Given the description of an element on the screen output the (x, y) to click on. 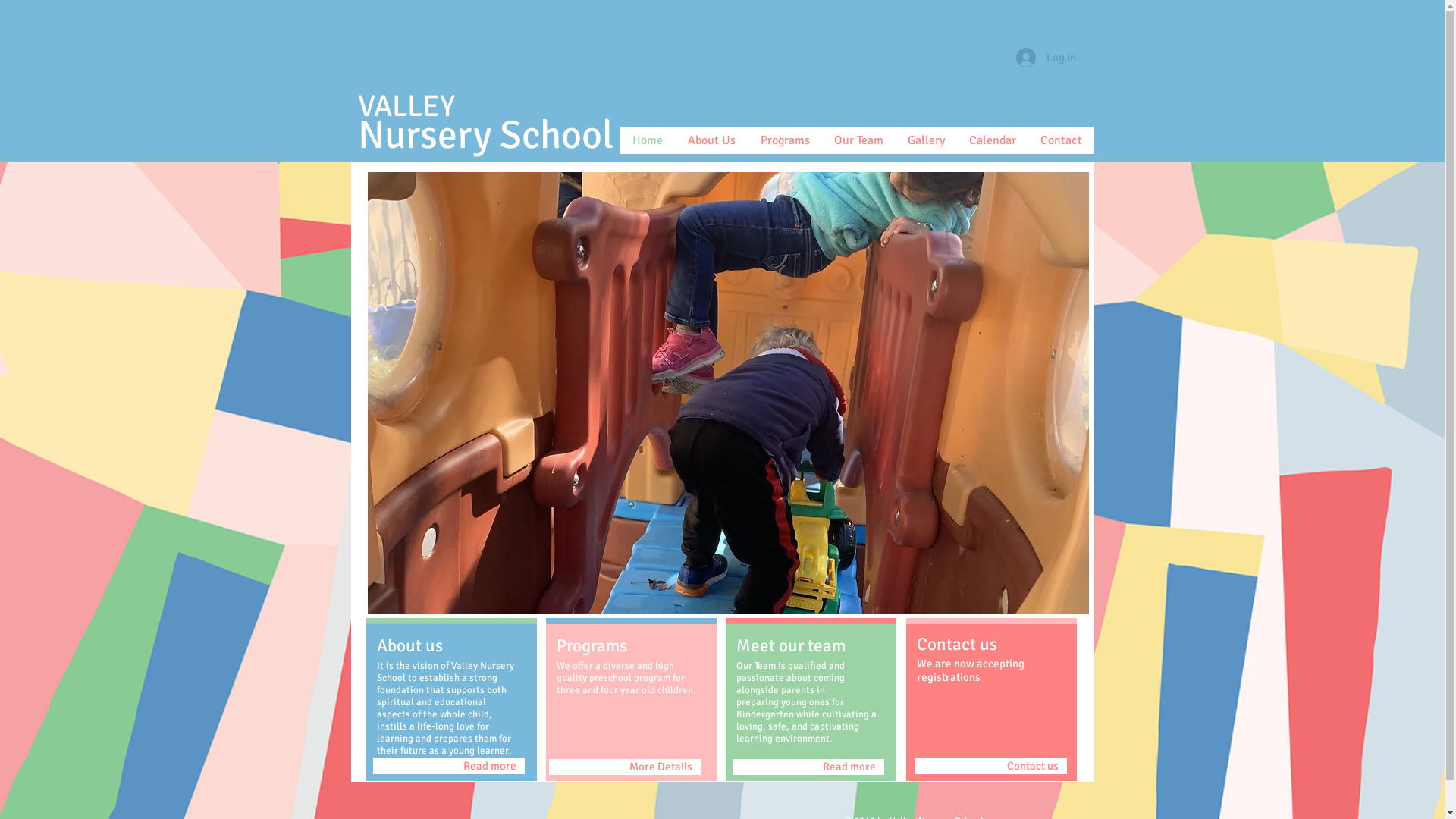
Our Team Element type: text (858, 140)
Home Element type: text (647, 140)
Nursery School Element type: text (485, 134)
Contact Element type: text (1061, 140)
Read more Element type: text (448, 766)
More Details Element type: text (624, 767)
About Us Element type: text (710, 140)
Contact us Element type: text (990, 766)
Programs Element type: text (784, 140)
Calendar Element type: text (992, 140)
Log In Element type: text (1045, 57)
Gallery Element type: text (925, 140)
Read more Element type: text (808, 767)
VALLEY Element type: text (406, 106)
